Given the description of an element on the screen output the (x, y) to click on. 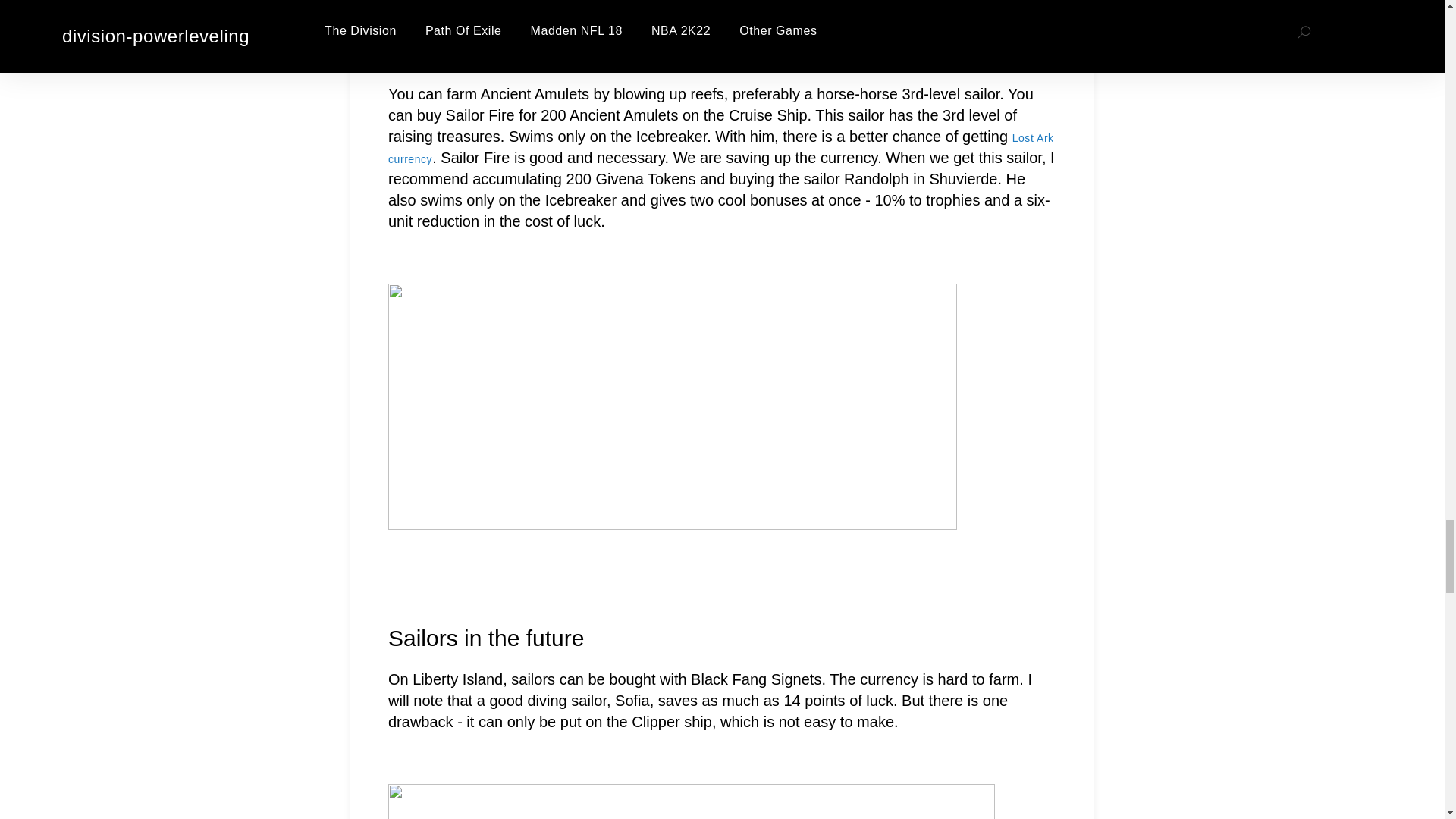
Lost Ark currency (721, 148)
